Given the description of an element on the screen output the (x, y) to click on. 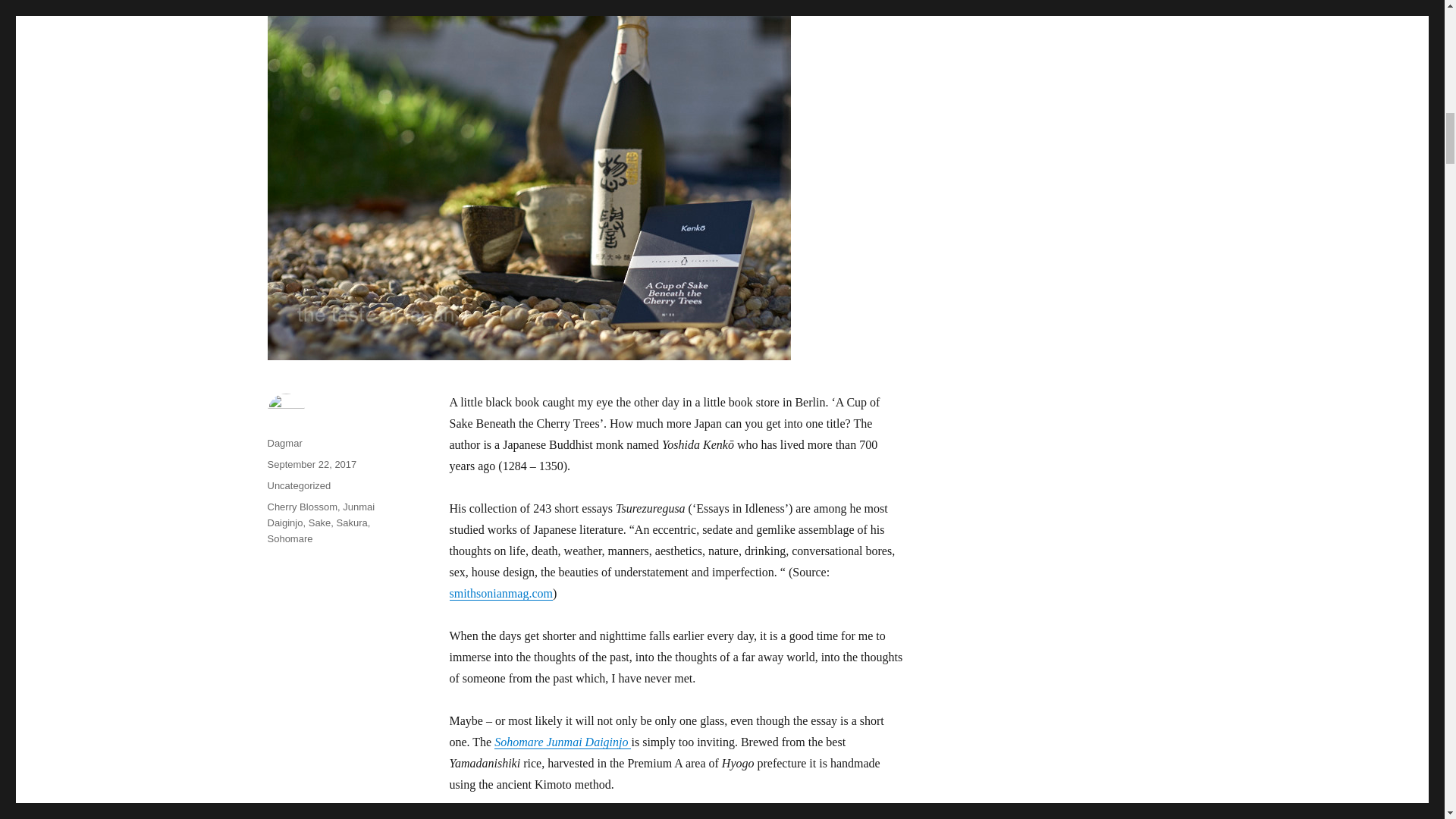
Sakura (352, 522)
Junmai Daiginjo (320, 514)
Uncategorized (298, 485)
Sohomare Junmai Daiginjo (562, 741)
Sake (319, 522)
September 22, 2017 (311, 464)
Sohomare (289, 538)
smithsonianmag.com (499, 593)
Dagmar (283, 442)
Cherry Blossom (301, 506)
